Given the description of an element on the screen output the (x, y) to click on. 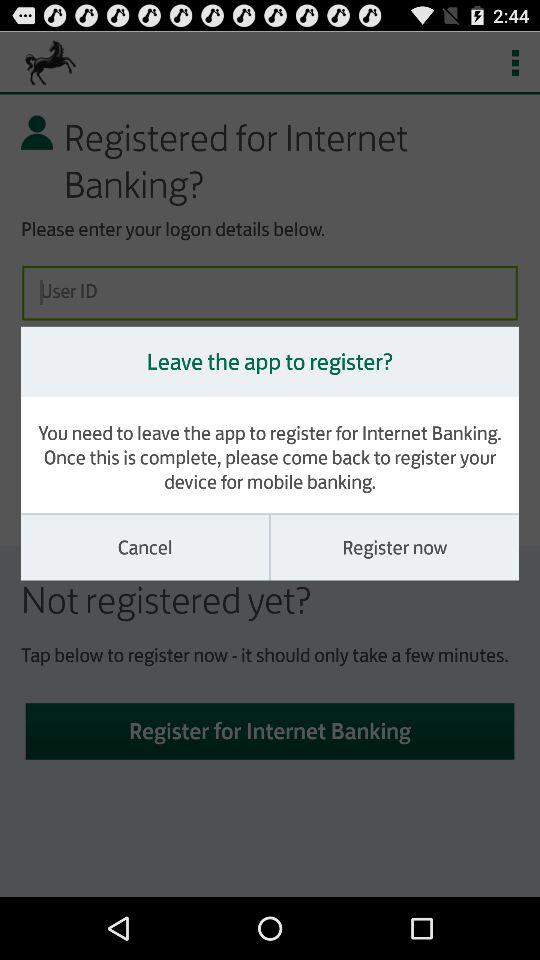
scroll to the cancel (145, 547)
